Given the description of an element on the screen output the (x, y) to click on. 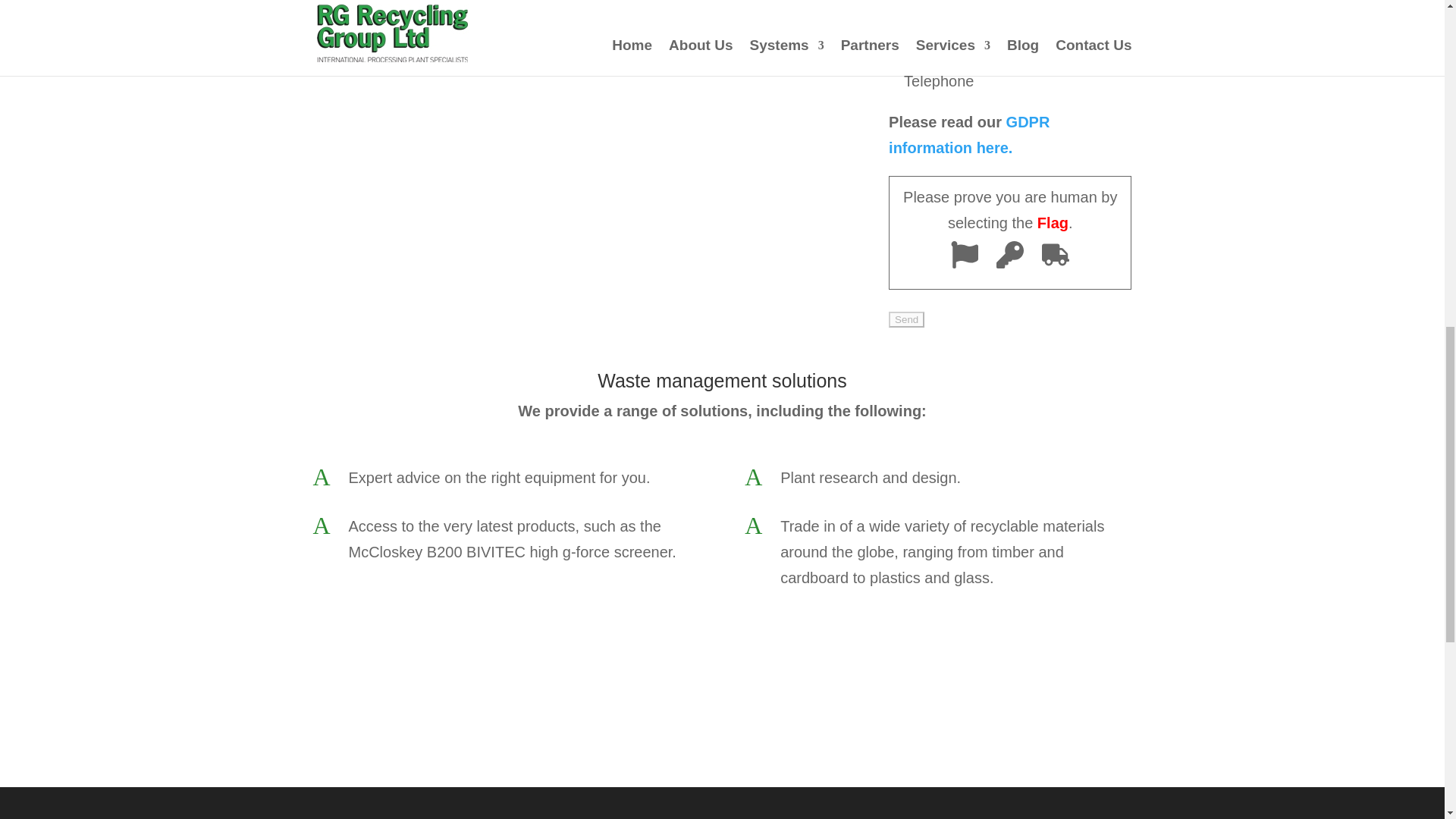
I agree to be contacted by Telephone (912, 55)
GDPR information here. (968, 134)
Send (906, 319)
I agree to be contacted by Email (912, 4)
Send (906, 319)
